Given the description of an element on the screen output the (x, y) to click on. 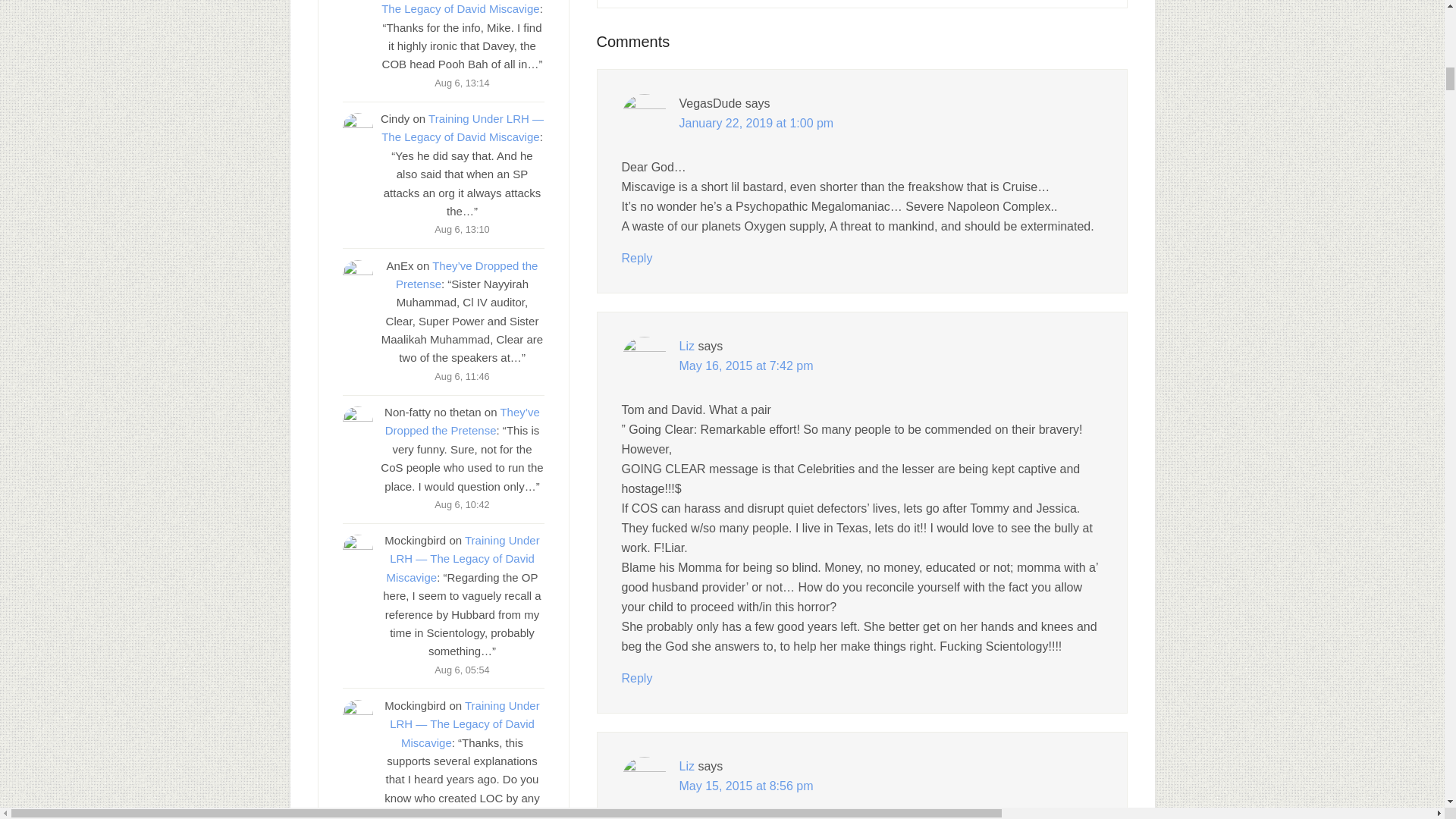
Liz (686, 766)
May 16, 2015 at 7:42 pm (746, 365)
Liz (686, 345)
May 15, 2015 at 8:56 pm (746, 785)
Reply (636, 257)
Reply (636, 677)
January 22, 2019 at 1:00 pm (756, 123)
